Given the description of an element on the screen output the (x, y) to click on. 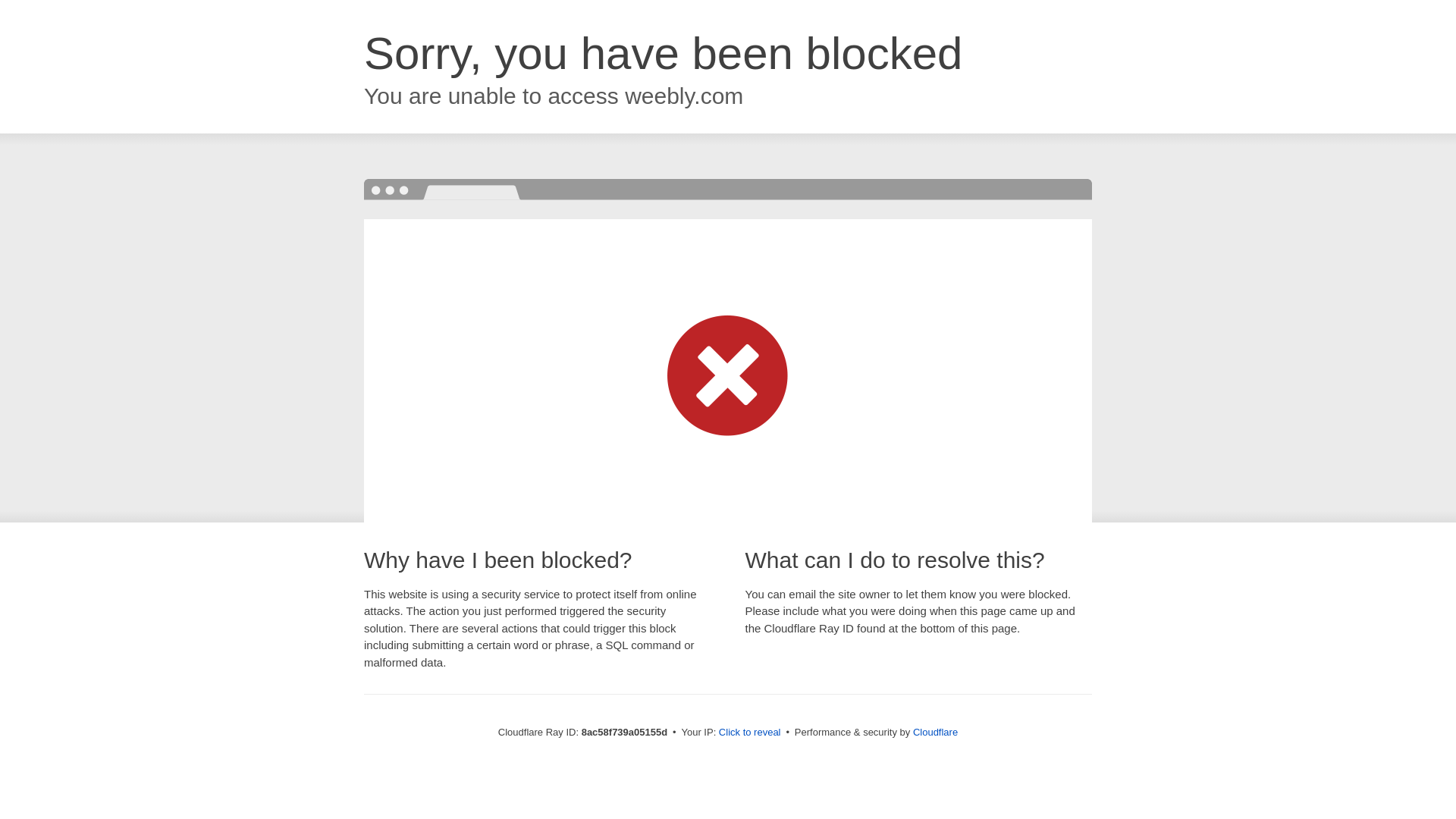
Click to reveal (749, 732)
Cloudflare (935, 731)
